Given the description of an element on the screen output the (x, y) to click on. 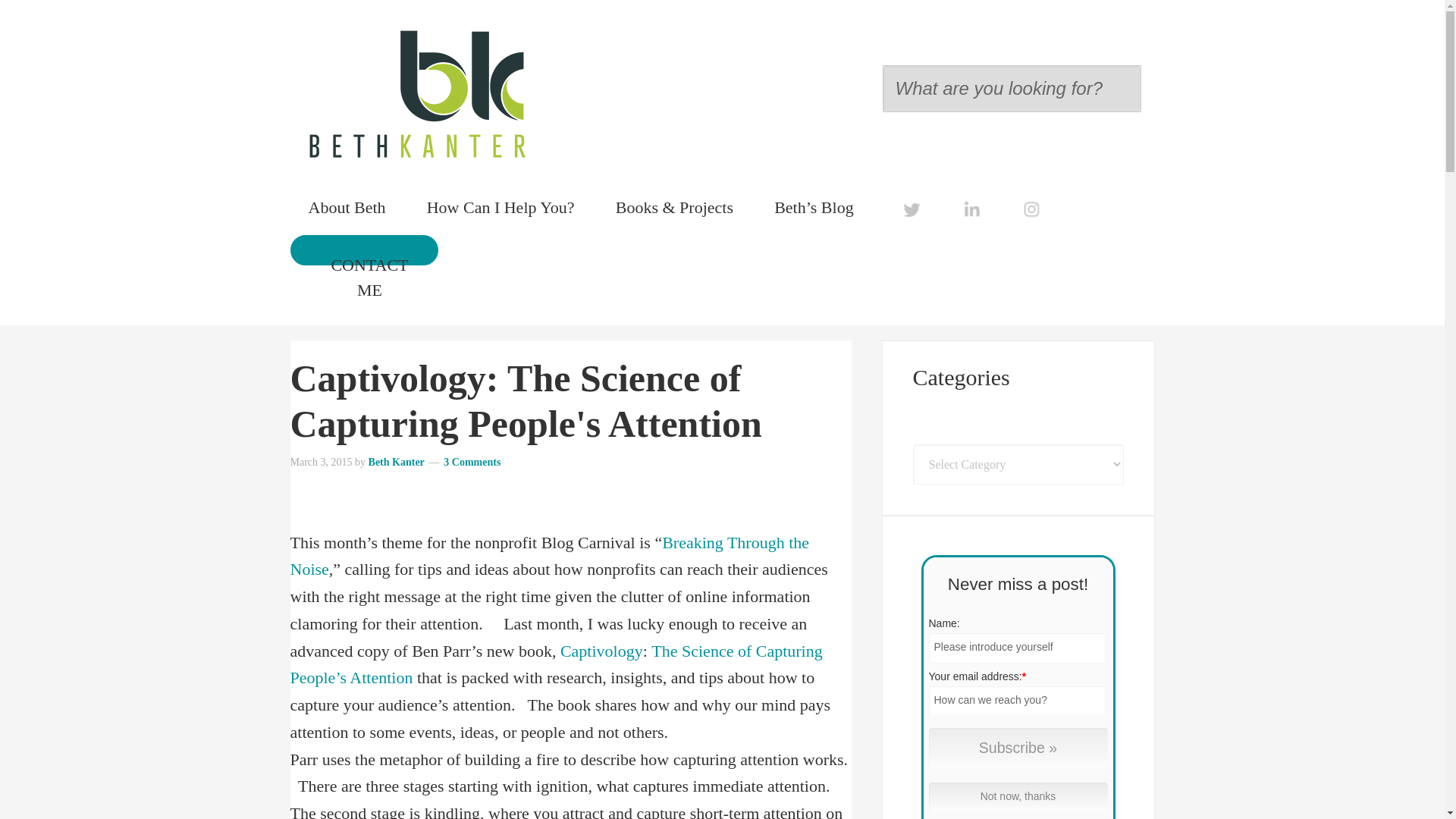
Captivology (601, 650)
About Beth (346, 207)
Hide this form for now (1017, 796)
Breaking Through the Noise (549, 555)
Not now, thanks (1017, 796)
How can we reach you? (1015, 700)
Please introduce yourself (1015, 647)
CONTACT ME (368, 277)
3 Comments (472, 461)
